Given the description of an element on the screen output the (x, y) to click on. 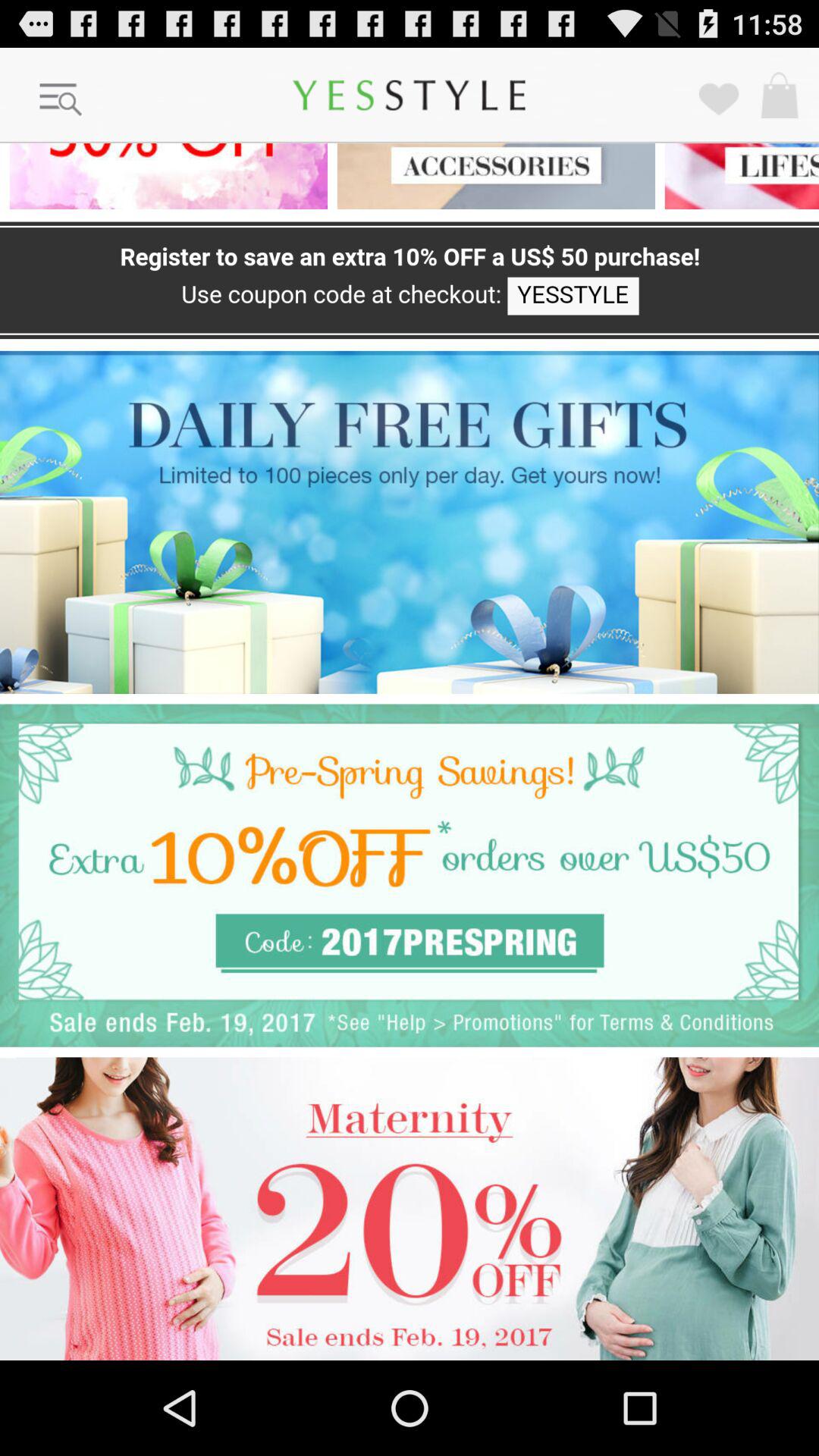
toggle lifestyle option (737, 176)
